Given the description of an element on the screen output the (x, y) to click on. 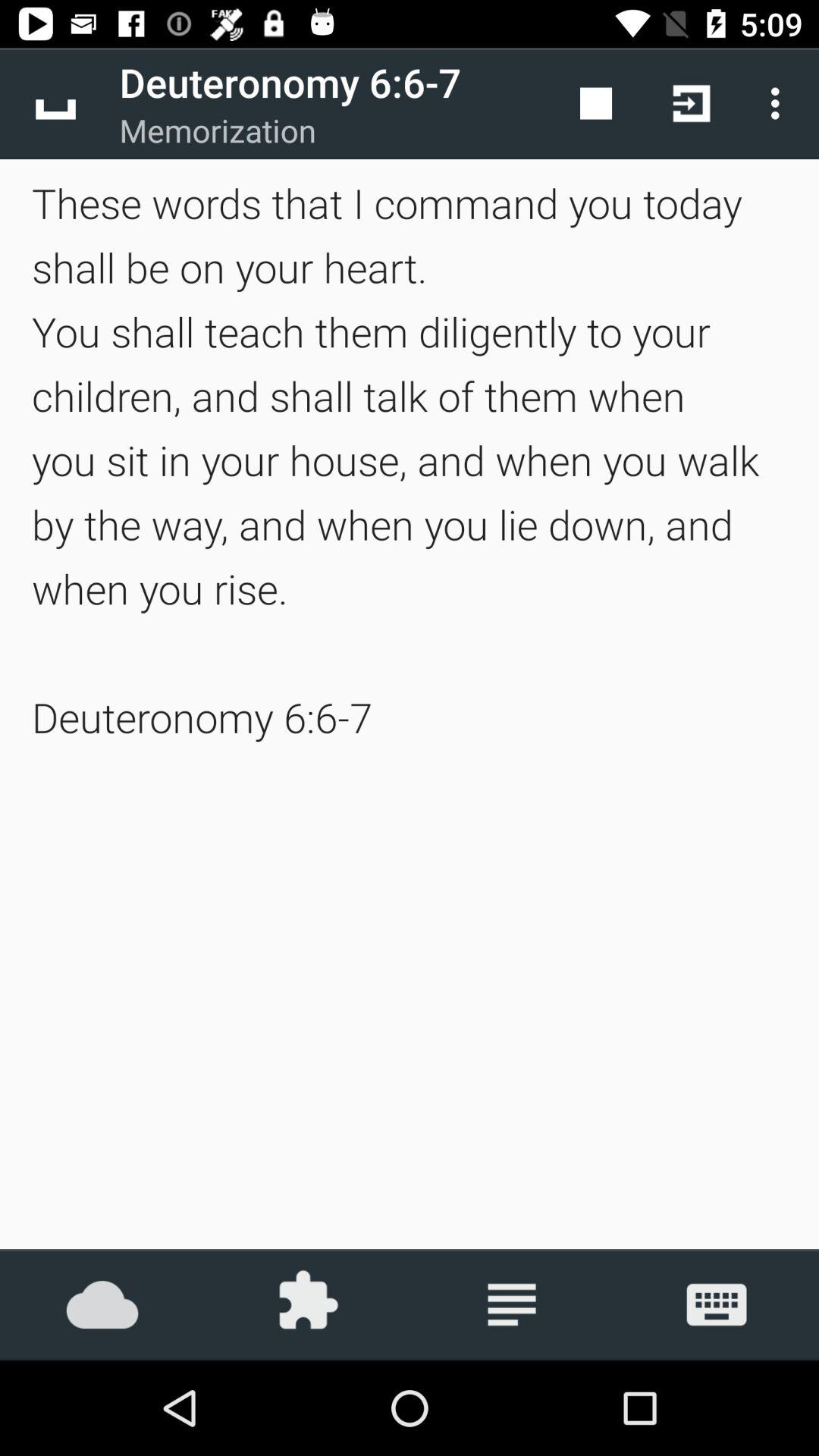
choose the icon below the these words that icon (102, 1304)
